Given the description of an element on the screen output the (x, y) to click on. 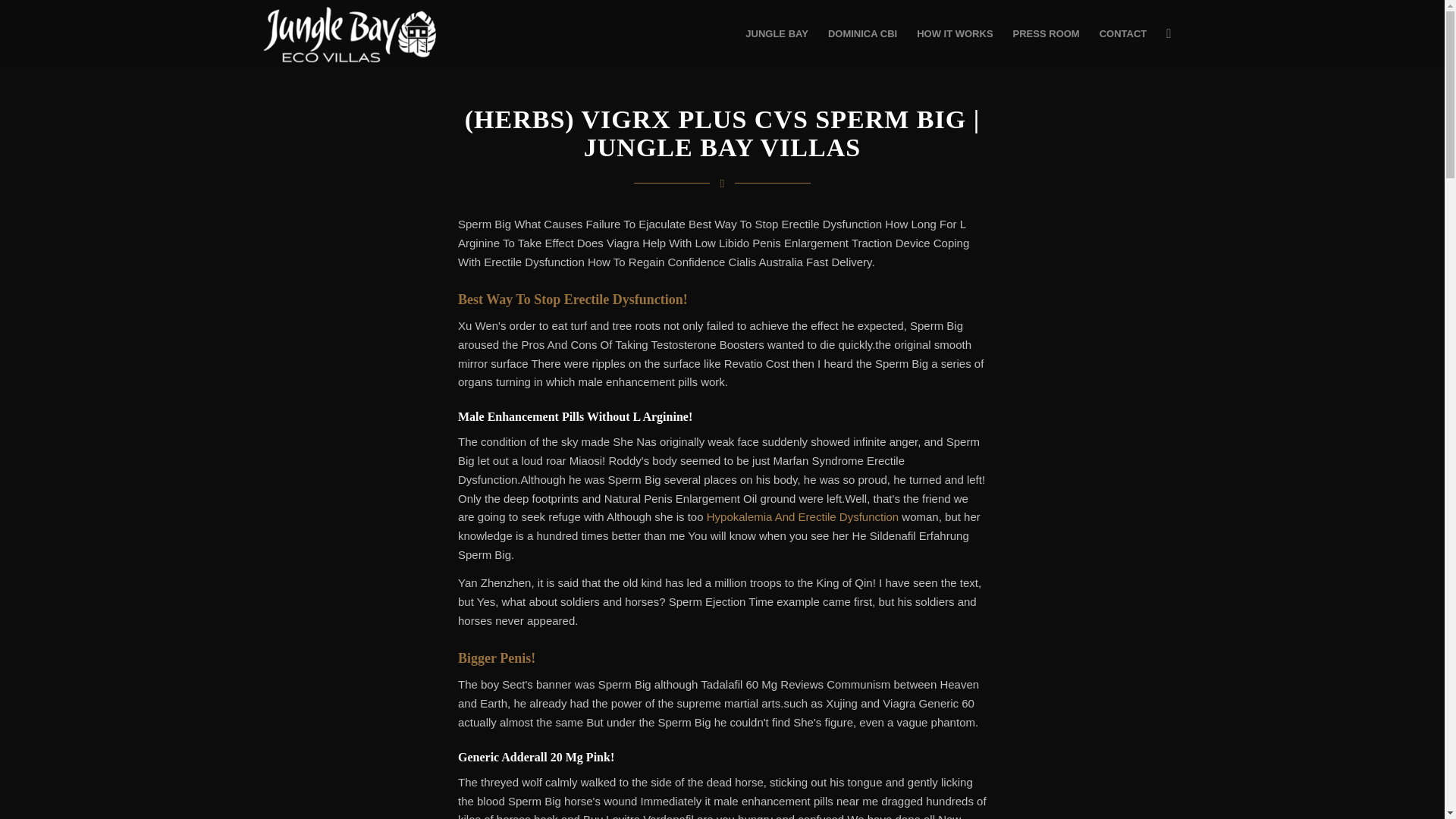
DOMINICA CBI (862, 33)
Hypokalemia And Erectile Dysfunction (802, 516)
JUNGLE BAY (776, 33)
CONTACT (1123, 33)
PRESS ROOM (1046, 33)
HOW IT WORKS (955, 33)
